Given the description of an element on the screen output the (x, y) to click on. 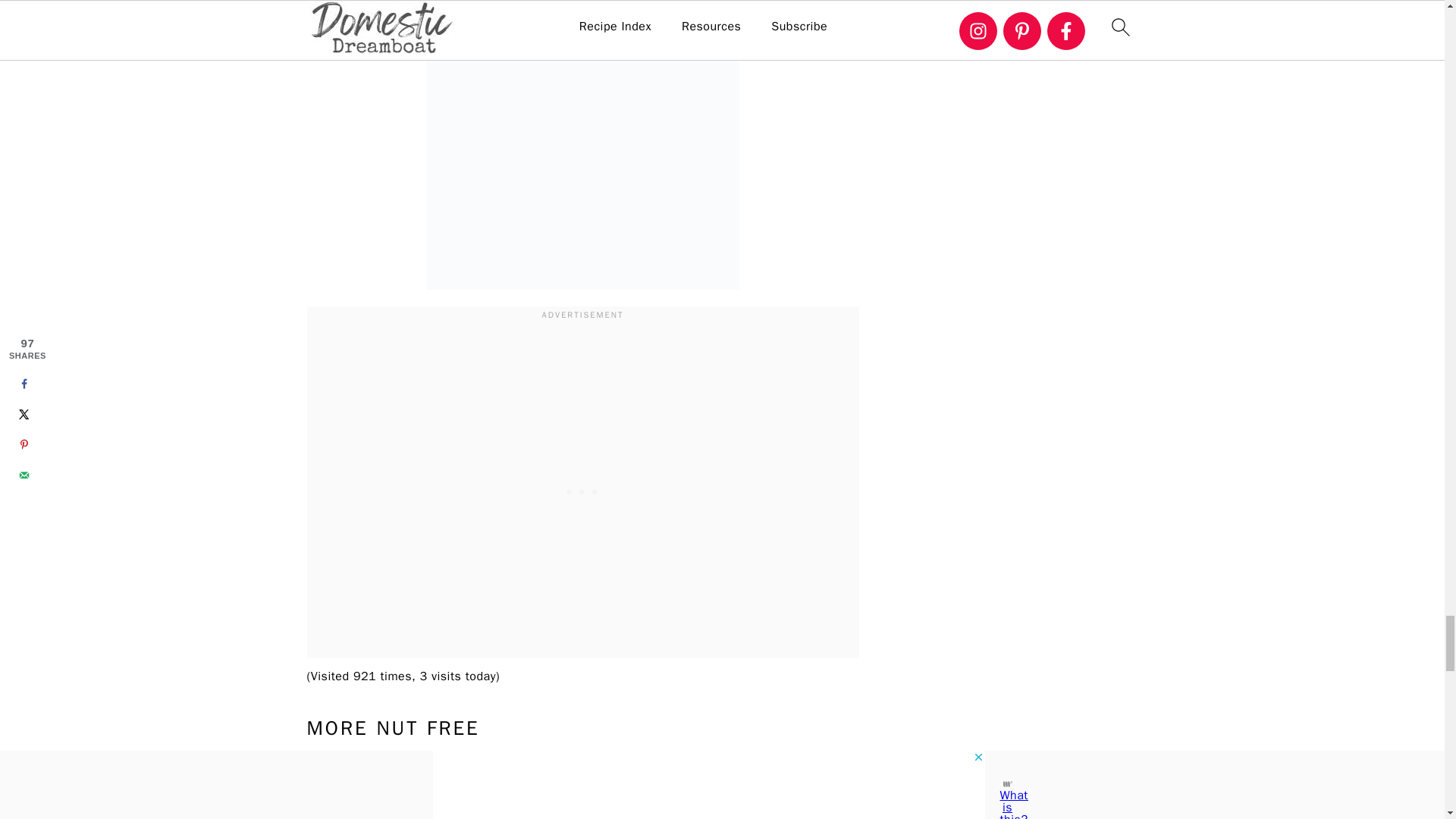
Italian Meringue (653, 788)
Instant Pot Sushi Rice (512, 788)
Steamed Lotus Leaf Buns (794, 788)
Crispy Roasted Cauliflower (582, 144)
